Given the description of an element on the screen output the (x, y) to click on. 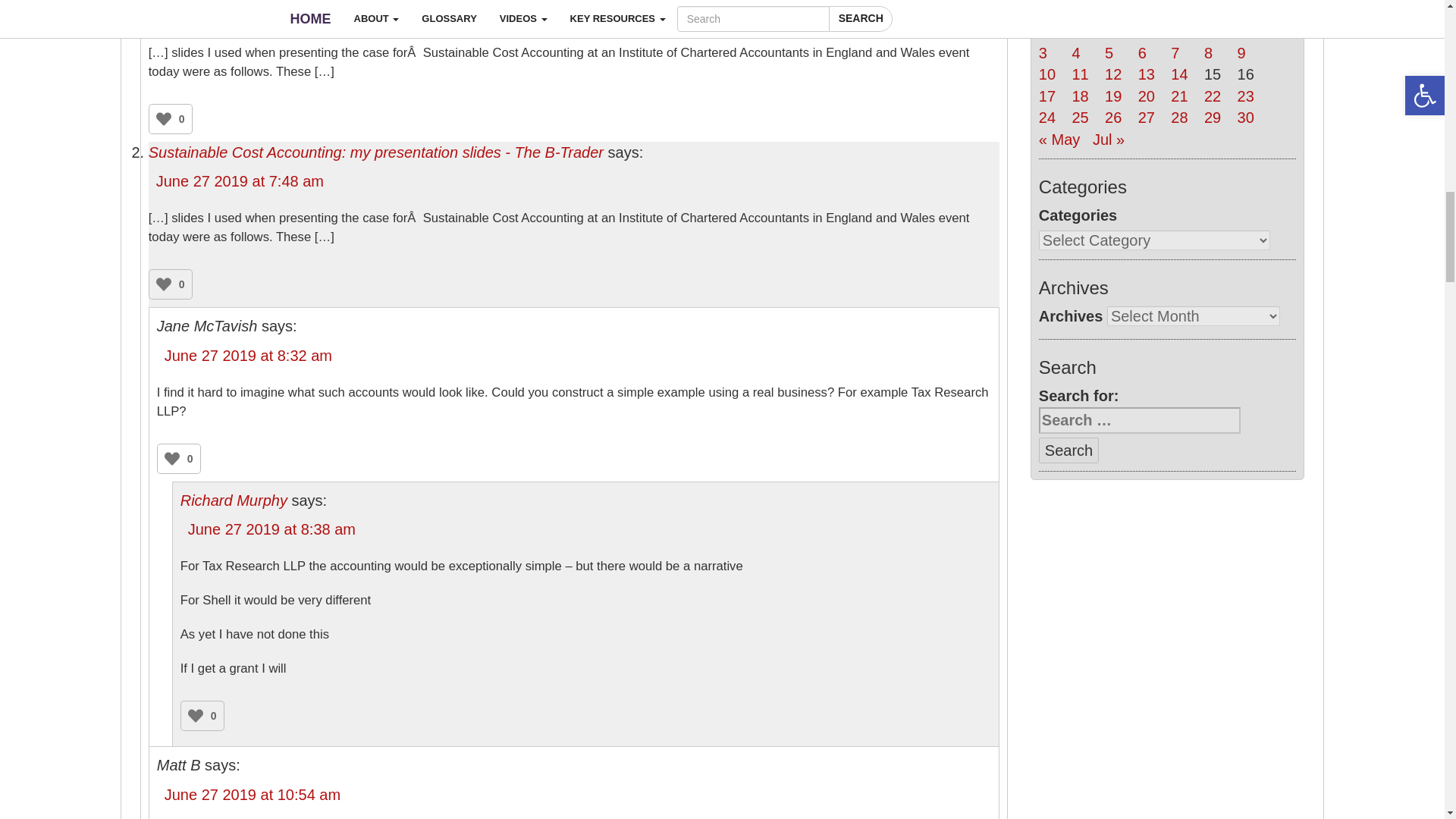
Search (1069, 449)
Search (1069, 449)
